Given the description of an element on the screen output the (x, y) to click on. 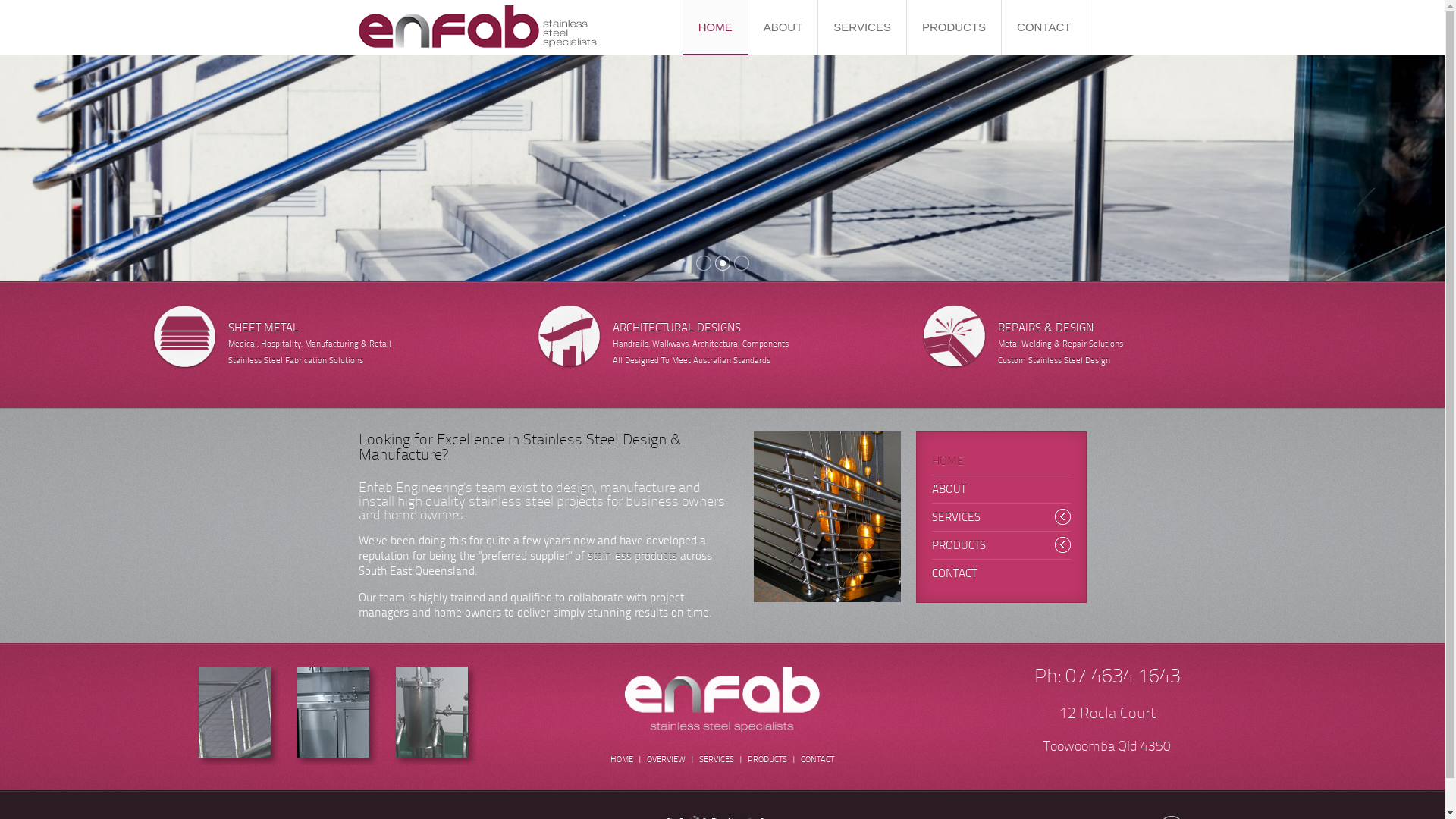
Fabrication Solutions Element type: text (324, 360)
Stainless Stee Element type: text (253, 360)
HOME Element type: text (1000, 460)
Enfab Stainless Steel Specialists, Products Element type: hover (336, 715)
CONTACT Element type: text (1043, 27)
ABOUT Element type: text (1000, 488)
ARCHITECTURAL DESIGNS Element type: text (676, 327)
Repair Solutions Element type: text (1092, 343)
REPAIRS & DESIGN Element type: text (1045, 327)
Retail Element type: text (379, 343)
SERVICES Element type: text (861, 27)
stainless products Element type: text (631, 555)
HOME Element type: text (621, 759)
OVERVIEW Element type: text (665, 759)
PRODUCTS Element type: text (1000, 544)
Walkways Element type: text (670, 343)
Custom Stainless Steel Design Element type: text (1053, 360)
Architectural Components Element type: text (740, 343)
CONTACT Element type: text (1000, 572)
Medical Element type: text (241, 343)
Manufacturing Element type: text (331, 343)
All Designed To Meet Australian Standards Element type: text (691, 360)
Handrails Element type: text (630, 343)
PRODUCTS Element type: text (767, 759)
SERVICES Element type: text (716, 759)
SHEET METAL Element type: text (262, 327)
design Element type: text (574, 487)
SERVICES Element type: text (1000, 516)
Hospitality Element type: text (280, 343)
HOME Element type: text (715, 27)
PRODUCTS Element type: text (953, 27)
ABOUT Element type: text (783, 27)
CONTACT Element type: text (817, 759)
Metal Welding Element type: text (1024, 343)
